Given the description of an element on the screen output the (x, y) to click on. 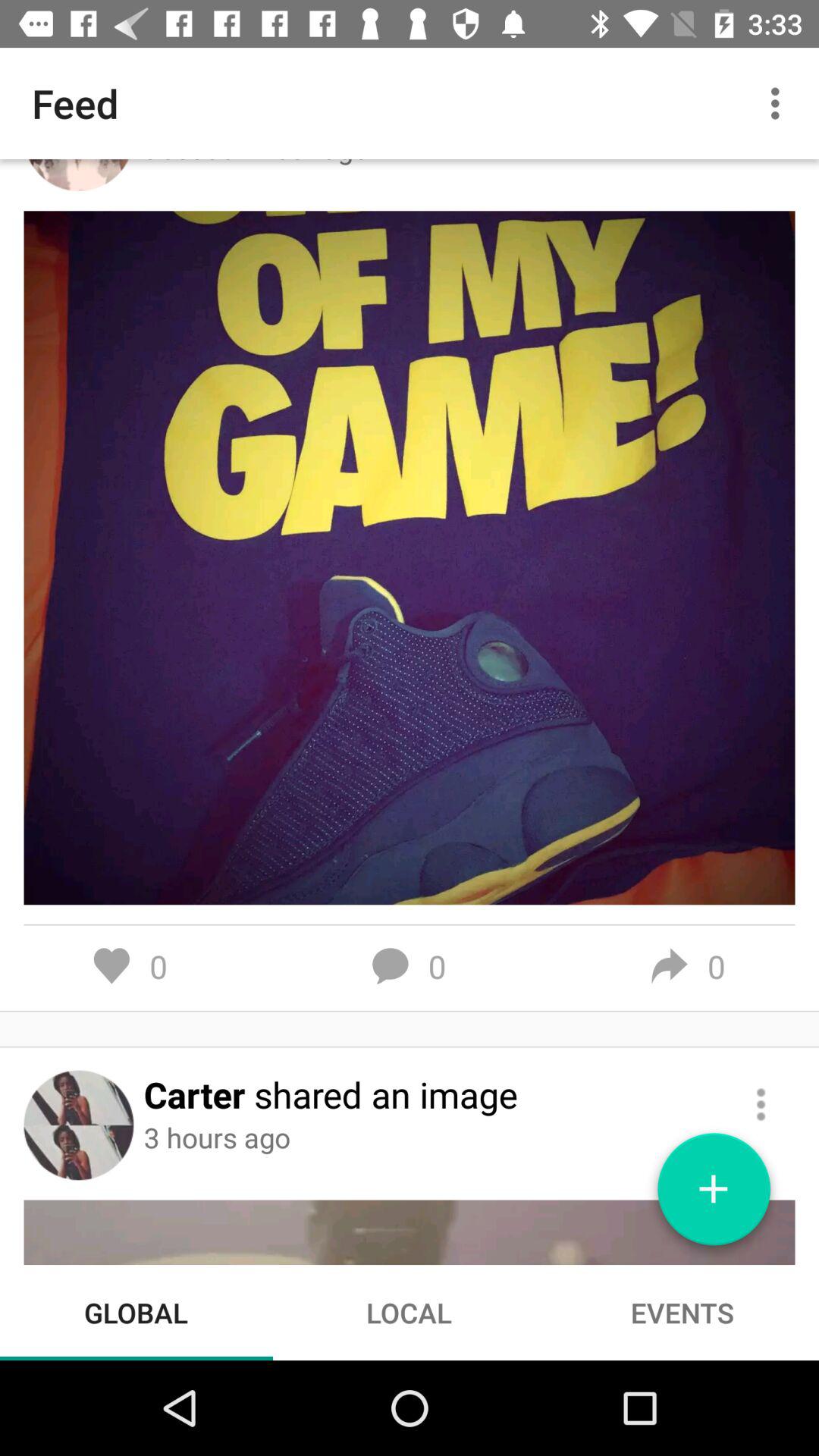
click the profile (78, 1125)
